Given the description of an element on the screen output the (x, y) to click on. 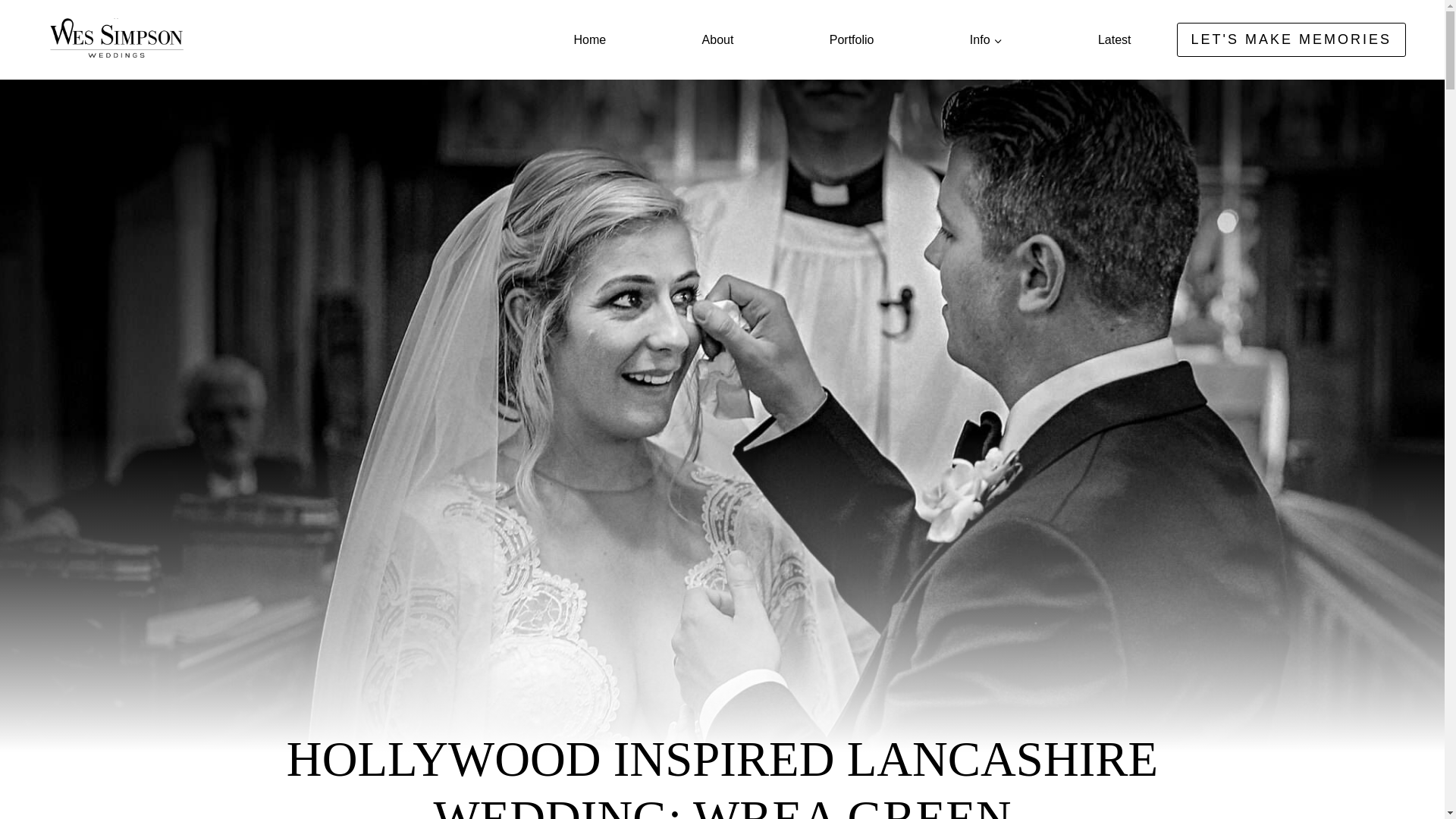
Home (590, 39)
LET'S MAKE MEMORIES (1291, 39)
Info (986, 39)
Portfolio (852, 39)
Latest (1114, 39)
About (717, 39)
